Given the description of an element on the screen output the (x, y) to click on. 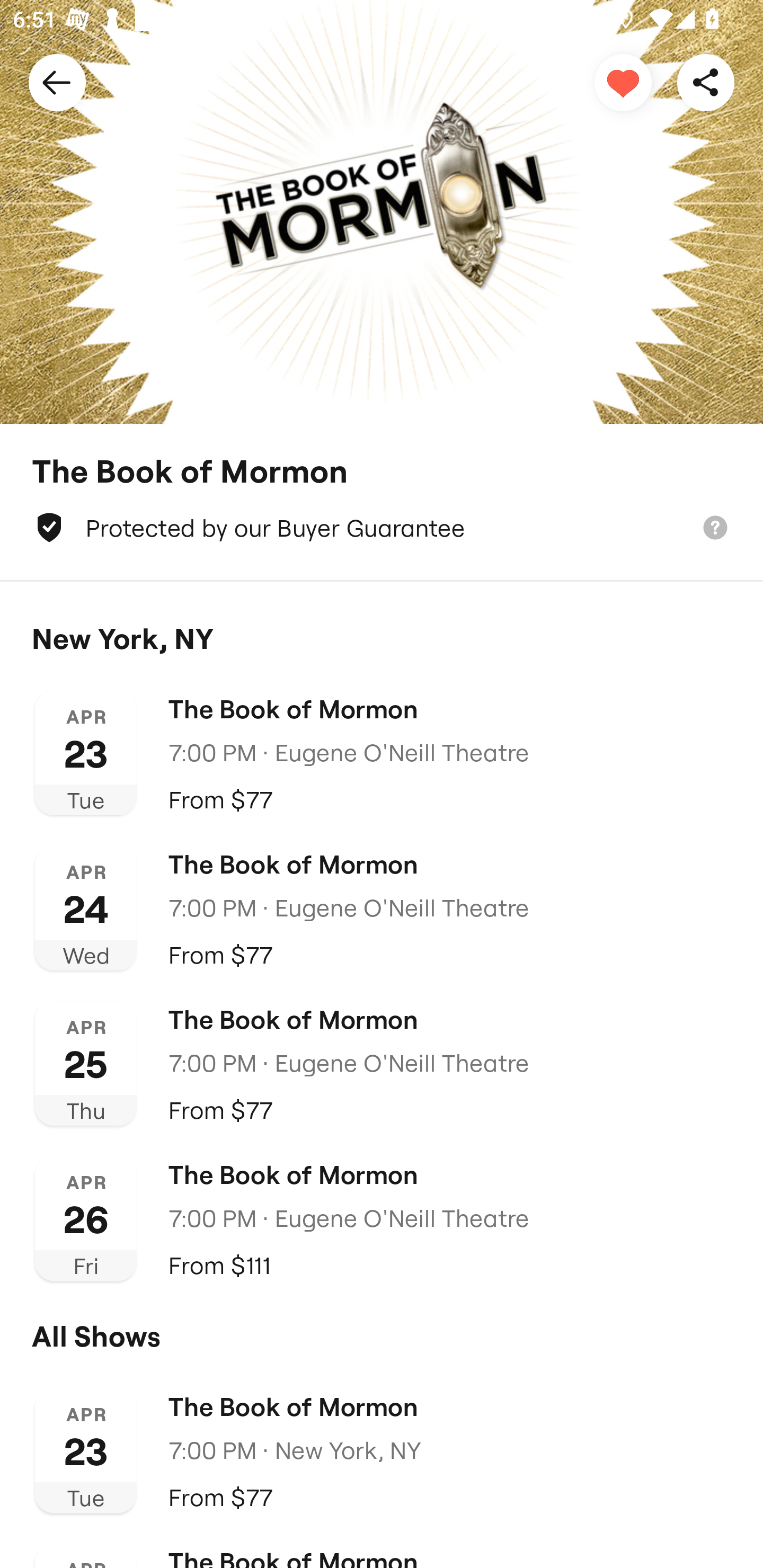
Back (57, 81)
Track this performer (623, 81)
Share this performer (705, 81)
Protected by our Buyer Guarantee Learn more (381, 527)
